Given the description of an element on the screen output the (x, y) to click on. 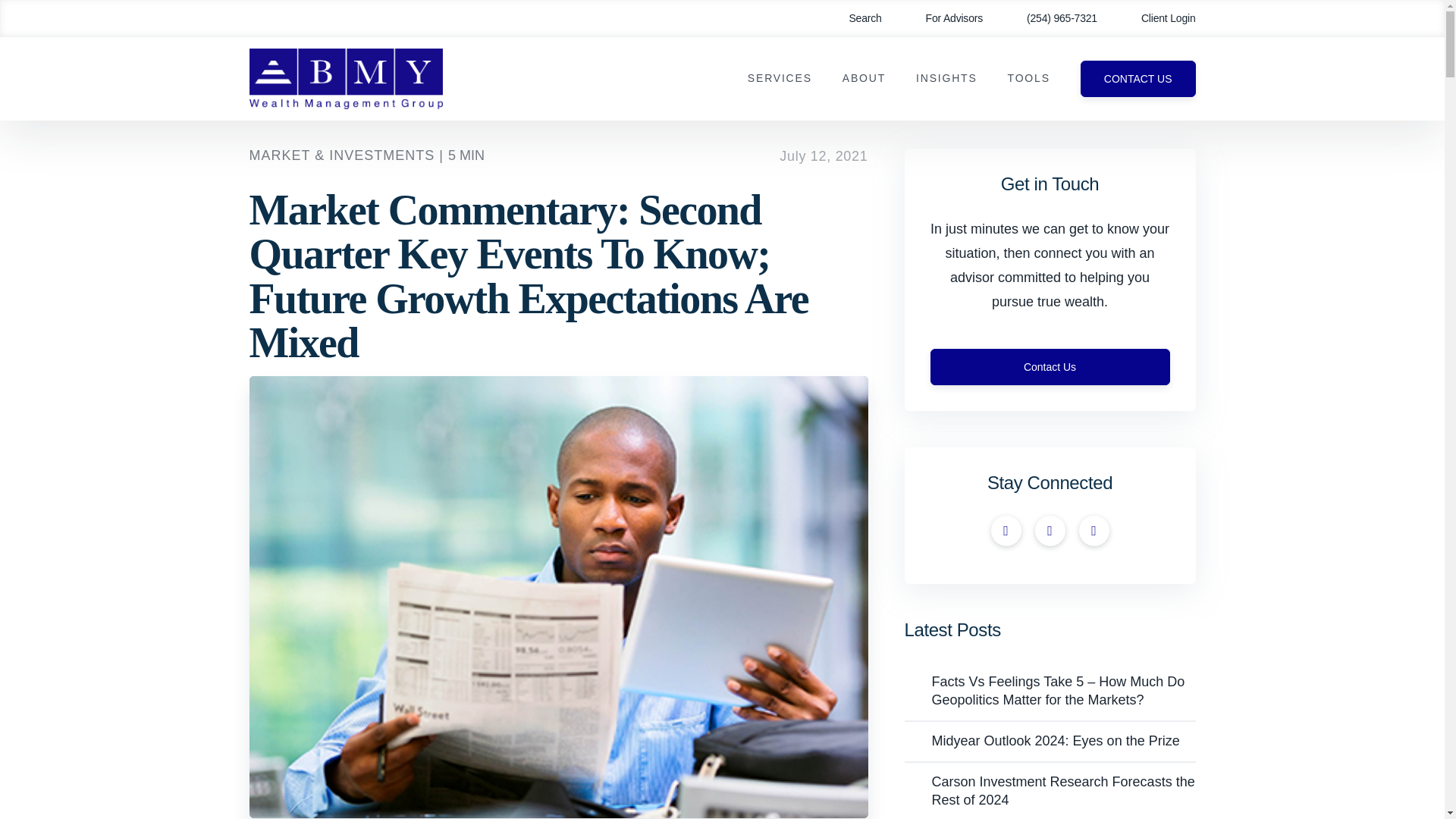
For Advisors (943, 18)
INSIGHTS (945, 78)
SERVICES (780, 78)
TOOLS (1028, 78)
ABOUT (864, 78)
CONTACT US (1137, 78)
Search (853, 18)
Client Login (1157, 18)
